Given the description of an element on the screen output the (x, y) to click on. 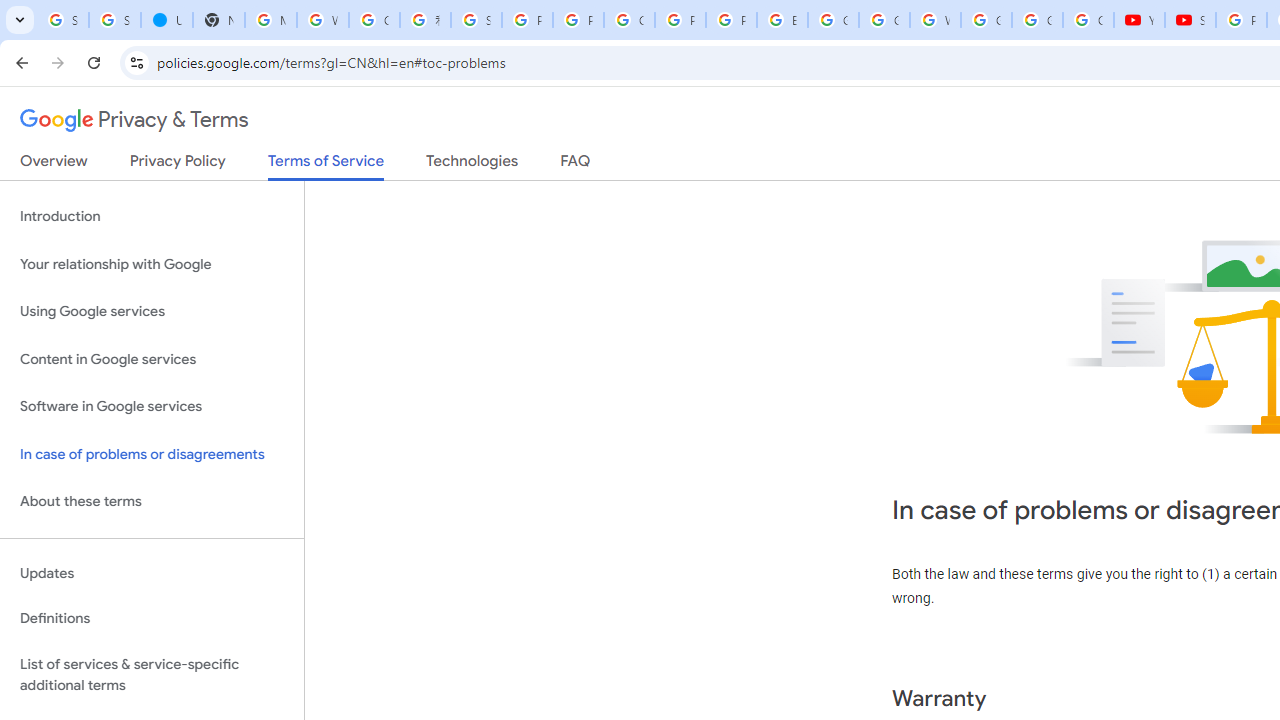
Software in Google services (152, 407)
